Given the description of an element on the screen output the (x, y) to click on. 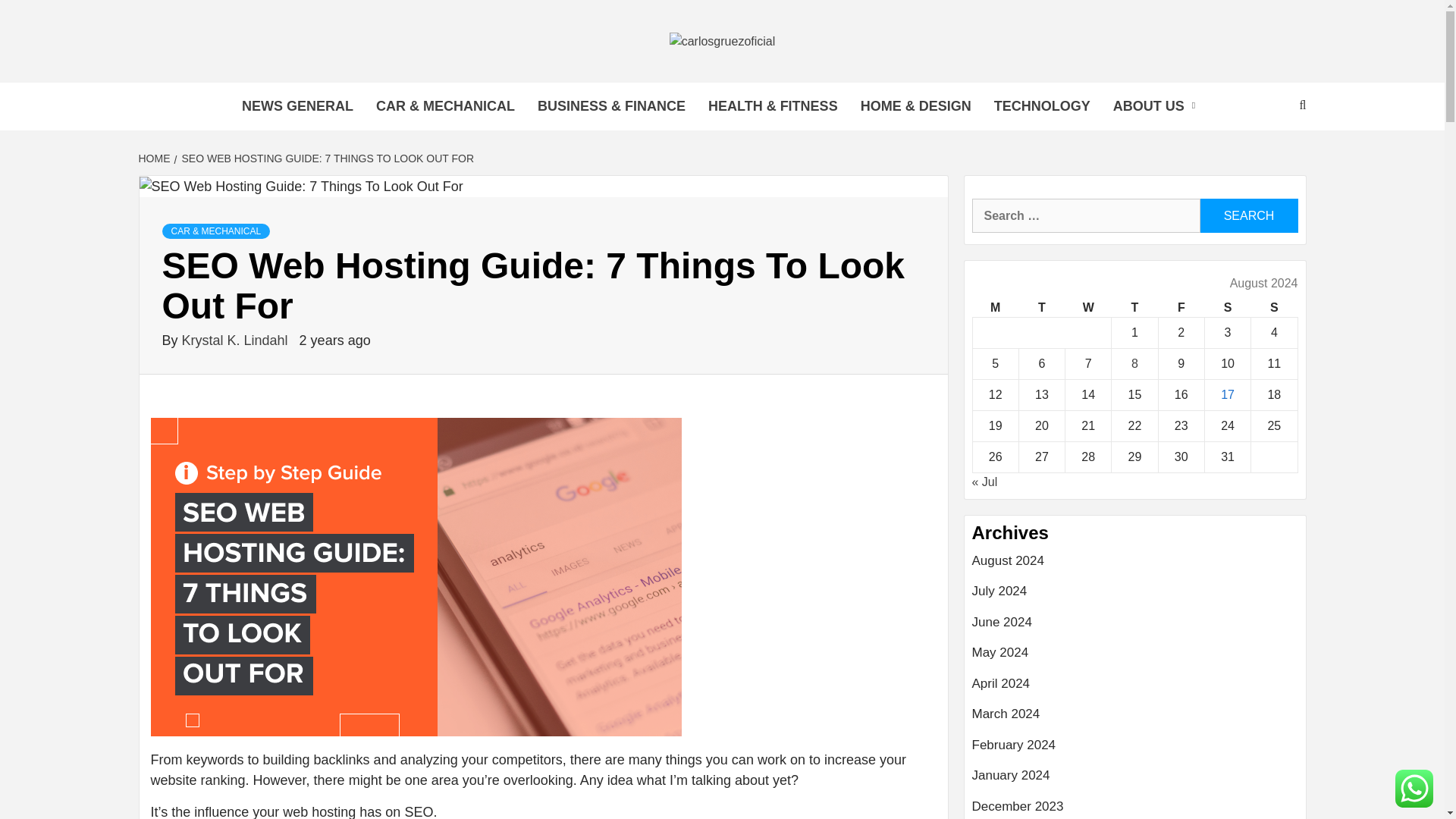
Tuesday (1040, 307)
HOME (155, 158)
Search (1248, 215)
SEO WEB HOSTING GUIDE: 7 THINGS TO LOOK OUT FOR (326, 158)
NEWS GENERAL (297, 106)
Krystal K. Lindahl (237, 339)
Monday (994, 307)
SEO Web Hosting Guide: 7 Things To Look Out For (301, 186)
ABOUT US (1158, 106)
Search (1248, 215)
